Given the description of an element on the screen output the (x, y) to click on. 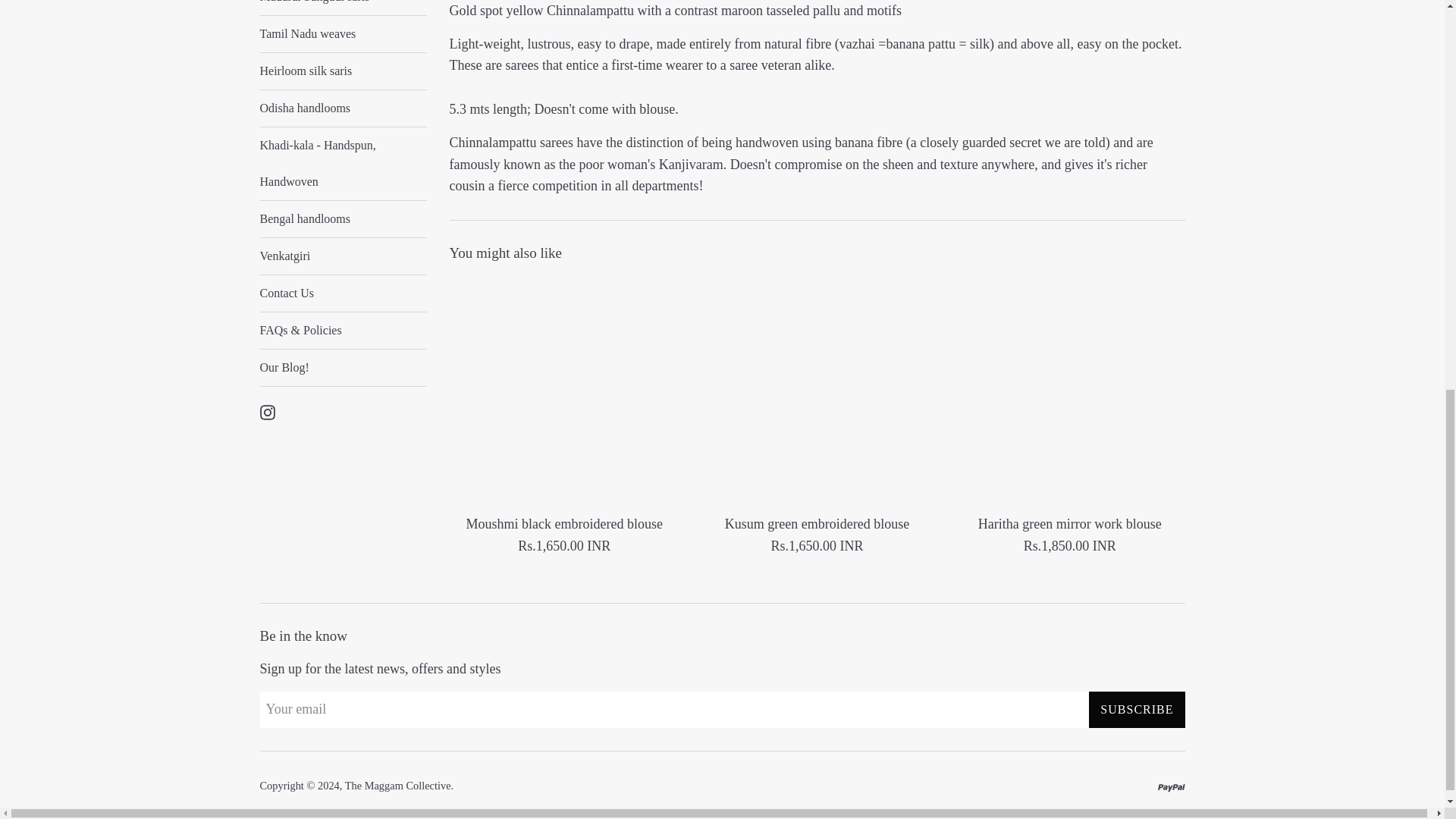
Odisha handlooms (342, 108)
The Maggam Collective on Instagram (267, 410)
Khadi-kala - Handspun, Handwoven (342, 163)
Contact Us (342, 293)
Kusum green embroidered blouse (816, 391)
Haritha green mirror work blouse (1070, 391)
Bengal handlooms (342, 218)
Venkatgiri (342, 256)
Heirloom silk saris (342, 71)
Instagram (267, 410)
Moushmi black embroidered blouse (563, 391)
Madurai Sungudi saris (342, 7)
Tamil Nadu weaves (342, 33)
Our Blog! (342, 367)
